Given the description of an element on the screen output the (x, y) to click on. 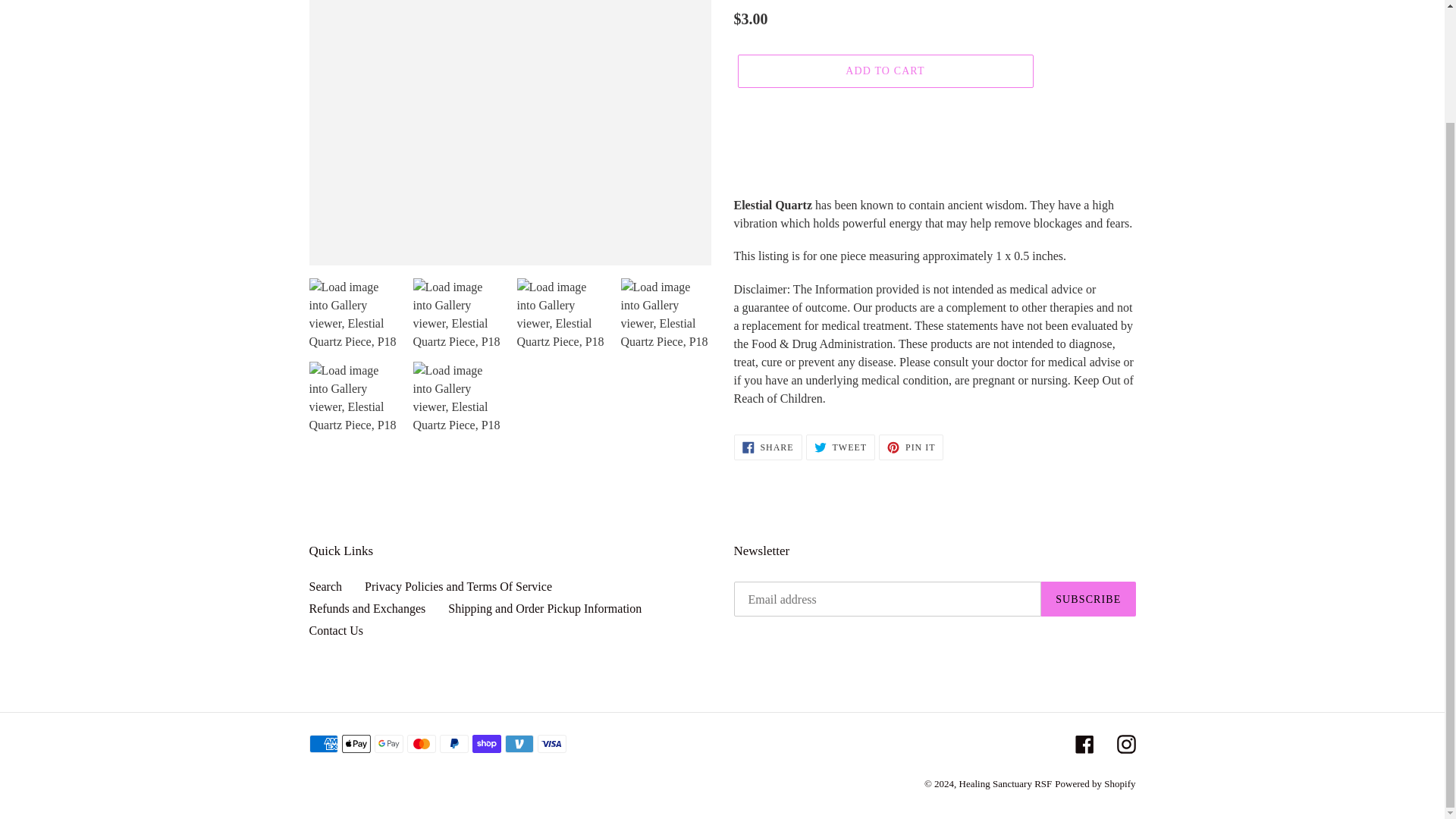
ADD TO CART (884, 70)
